Given the description of an element on the screen output the (x, y) to click on. 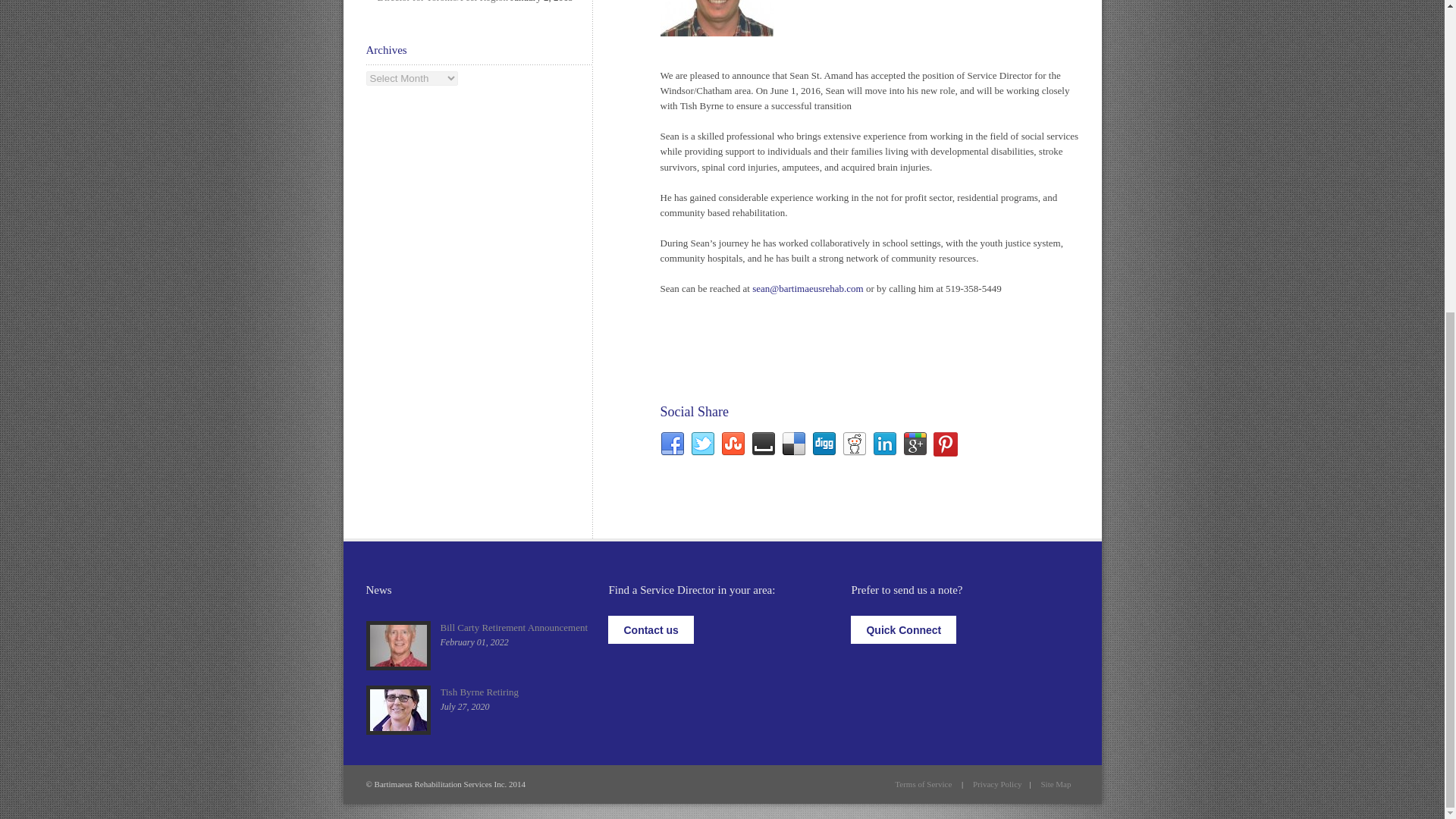
Terms of Service (923, 783)
Site Map (1055, 783)
Privacy Policy (997, 783)
